Given the description of an element on the screen output the (x, y) to click on. 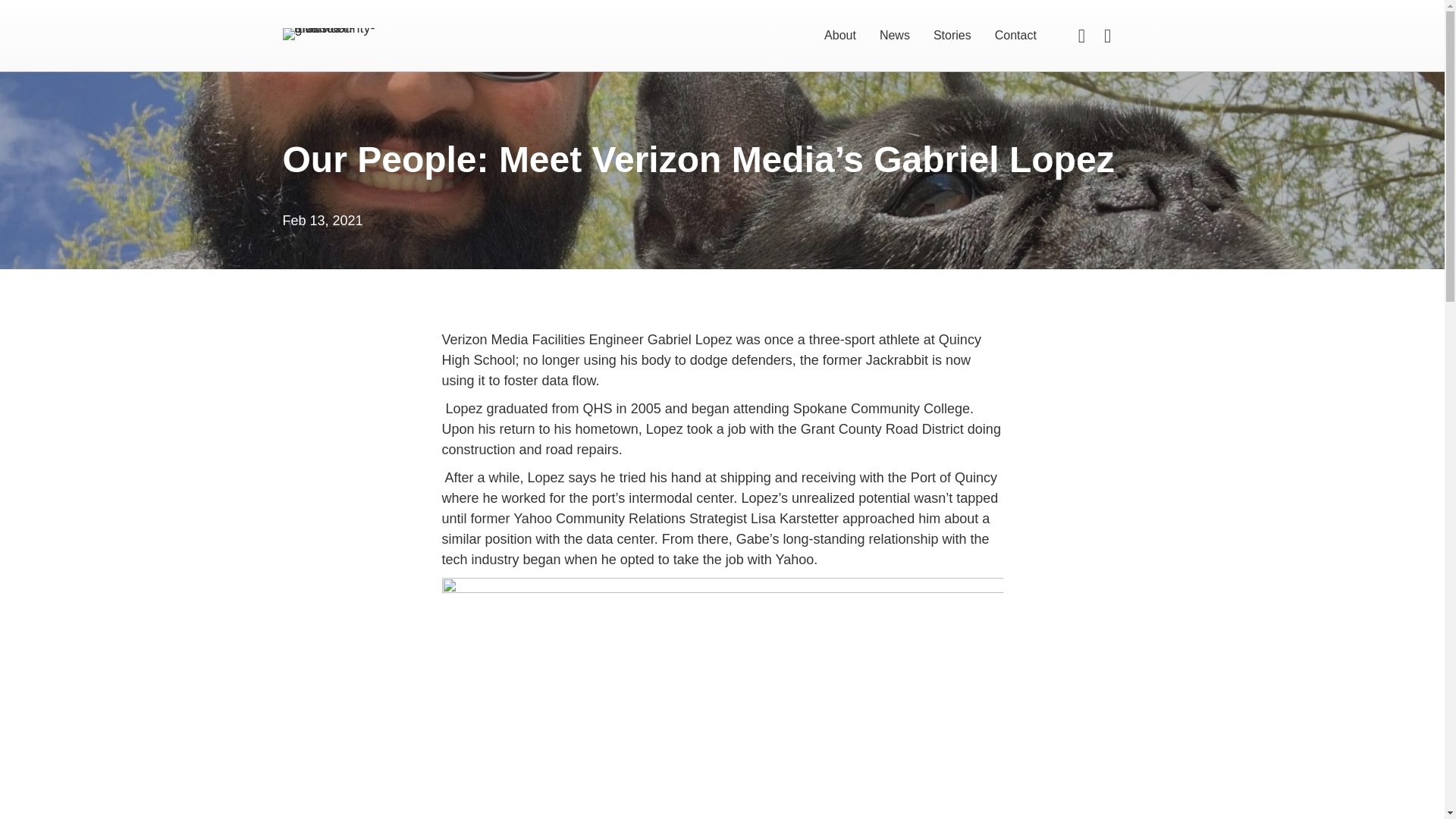
Contact (1016, 35)
News (894, 35)
Stories (951, 35)
grant-county-industrial-alliance (331, 33)
About (839, 35)
